Given the description of an element on the screen output the (x, y) to click on. 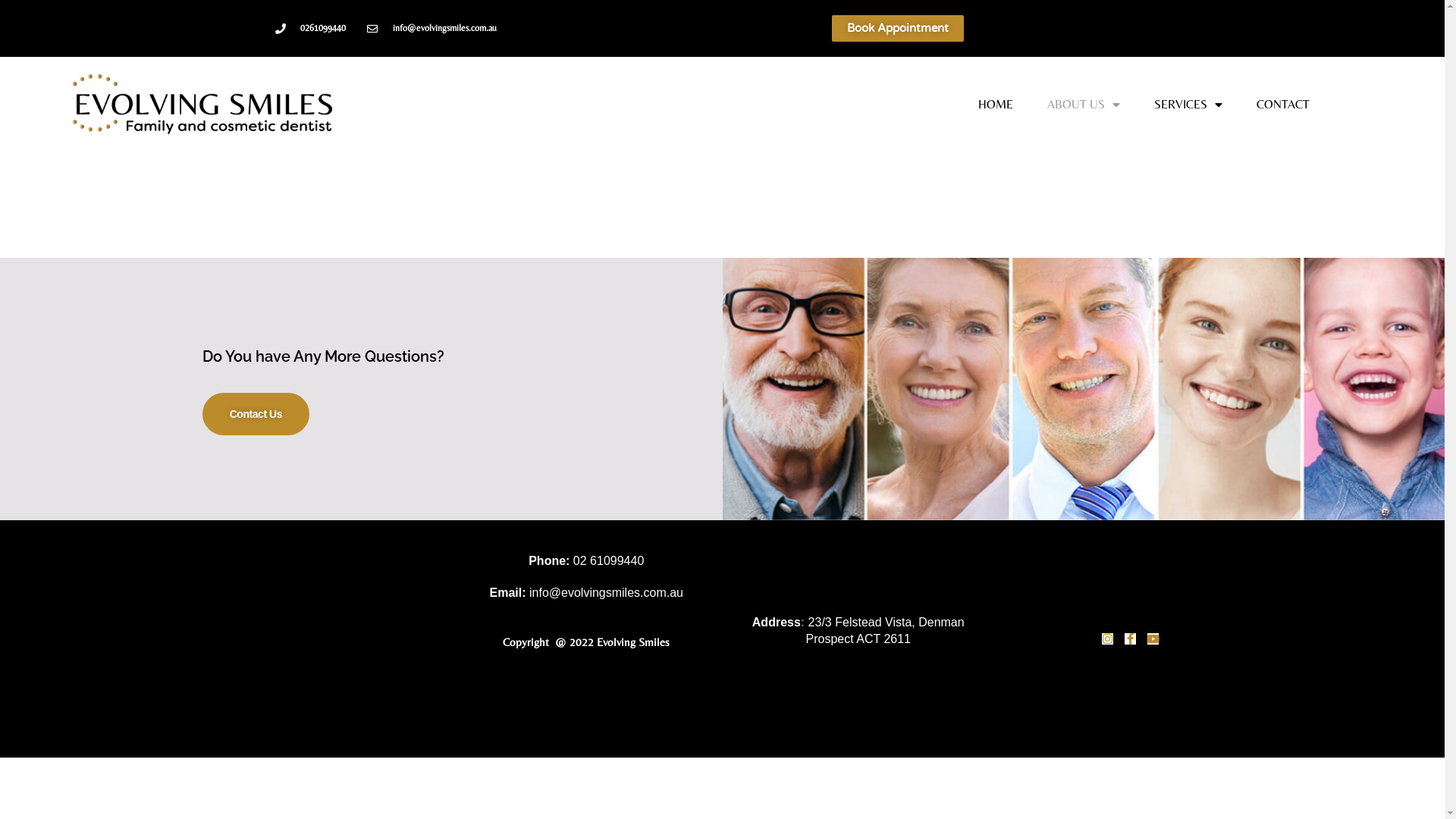
ABOUT US Element type: text (1083, 103)
Do You have Any More Questions?
Contact Us Element type: text (722, 388)
Book Appointment Element type: text (897, 28)
SERVICES Element type: text (1188, 103)
CONTACT Element type: text (1282, 103)
HOME Element type: text (995, 103)
Privacy Policy Element type: text (586, 695)
